Given the description of an element on the screen output the (x, y) to click on. 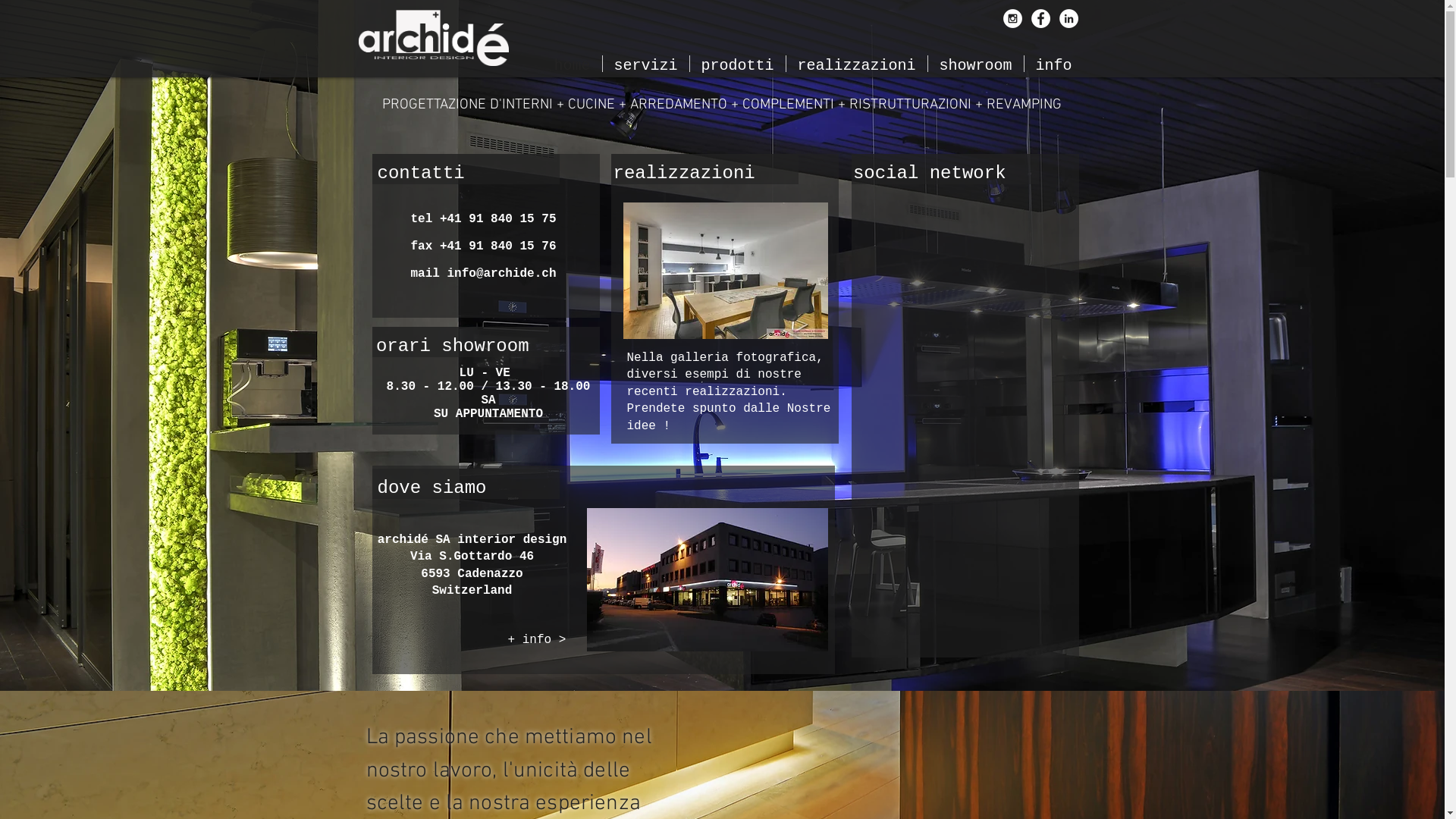
showroom Element type: text (975, 63)
info@archide.ch Element type: text (500, 273)
+ info > Element type: text (543, 640)
home Element type: text (572, 63)
realizzazioni Element type: text (855, 63)
info Element type: text (1052, 63)
servizi Element type: text (645, 63)
13603413_839786286121910_7175172976781536967_o.jpg Element type: hover (725, 270)
prodotti Element type: text (737, 63)
